Given the description of an element on the screen output the (x, y) to click on. 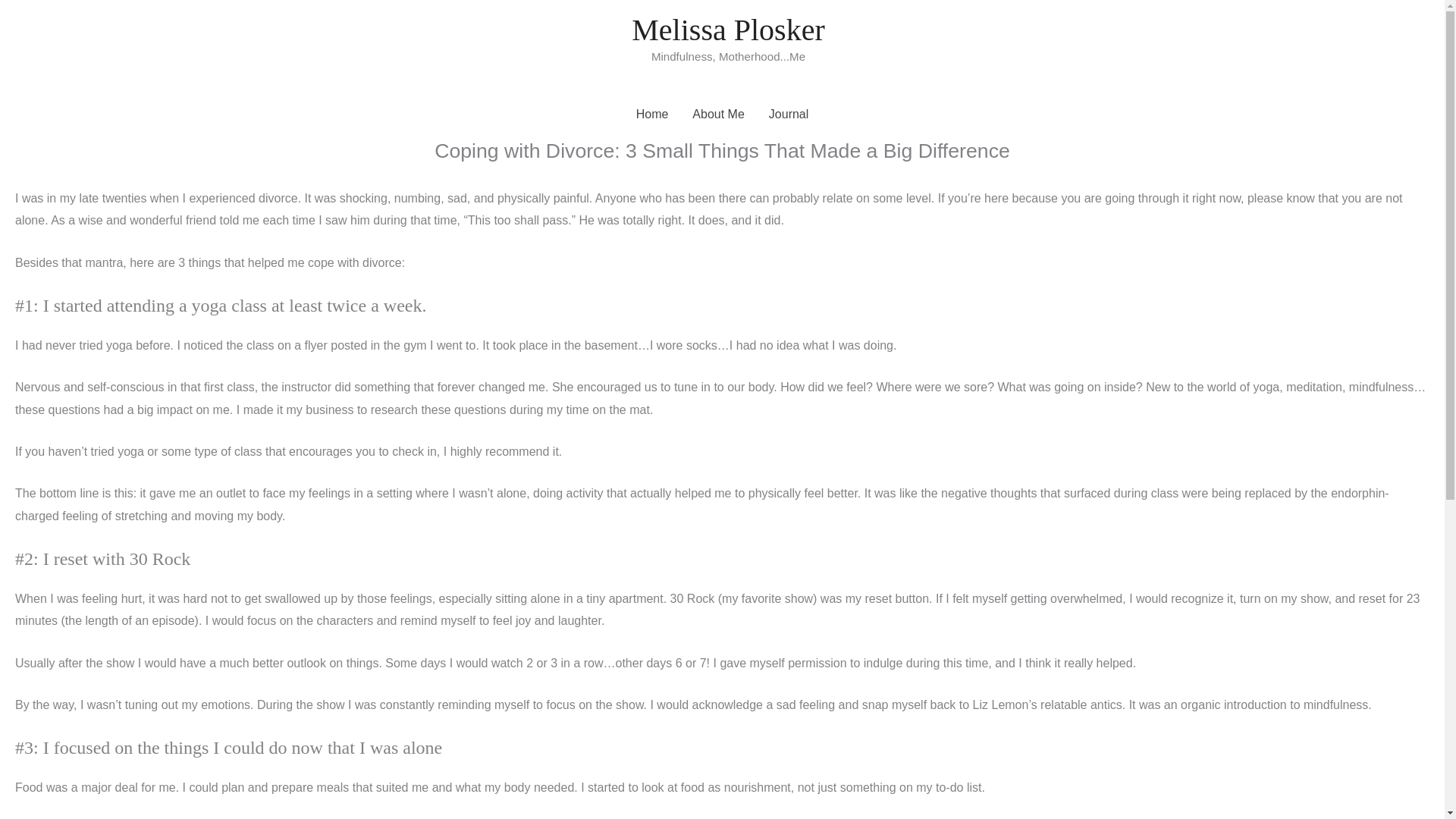
Journal (789, 114)
Home (652, 114)
Melissa Plosker (727, 29)
About Me (717, 114)
